Given the description of an element on the screen output the (x, y) to click on. 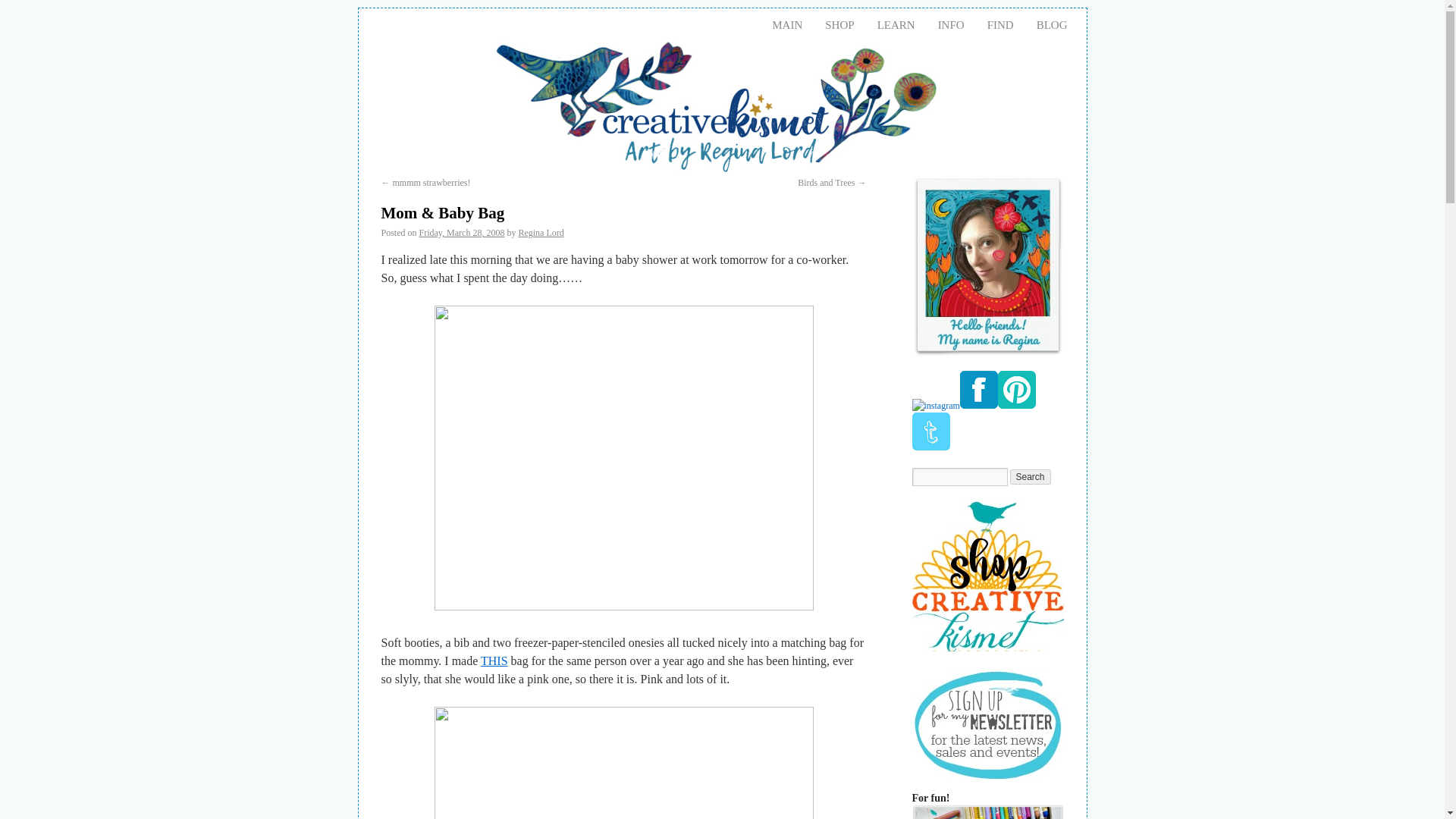
View all posts by Regina Lord (540, 232)
Search (1030, 476)
FIND (1000, 24)
LEARN (896, 24)
MAIN (786, 24)
THIS (494, 660)
BLOG (1051, 24)
Regina Lord (540, 232)
Friday, March 28, 2008 (462, 232)
SHOP (838, 24)
